Given the description of an element on the screen output the (x, y) to click on. 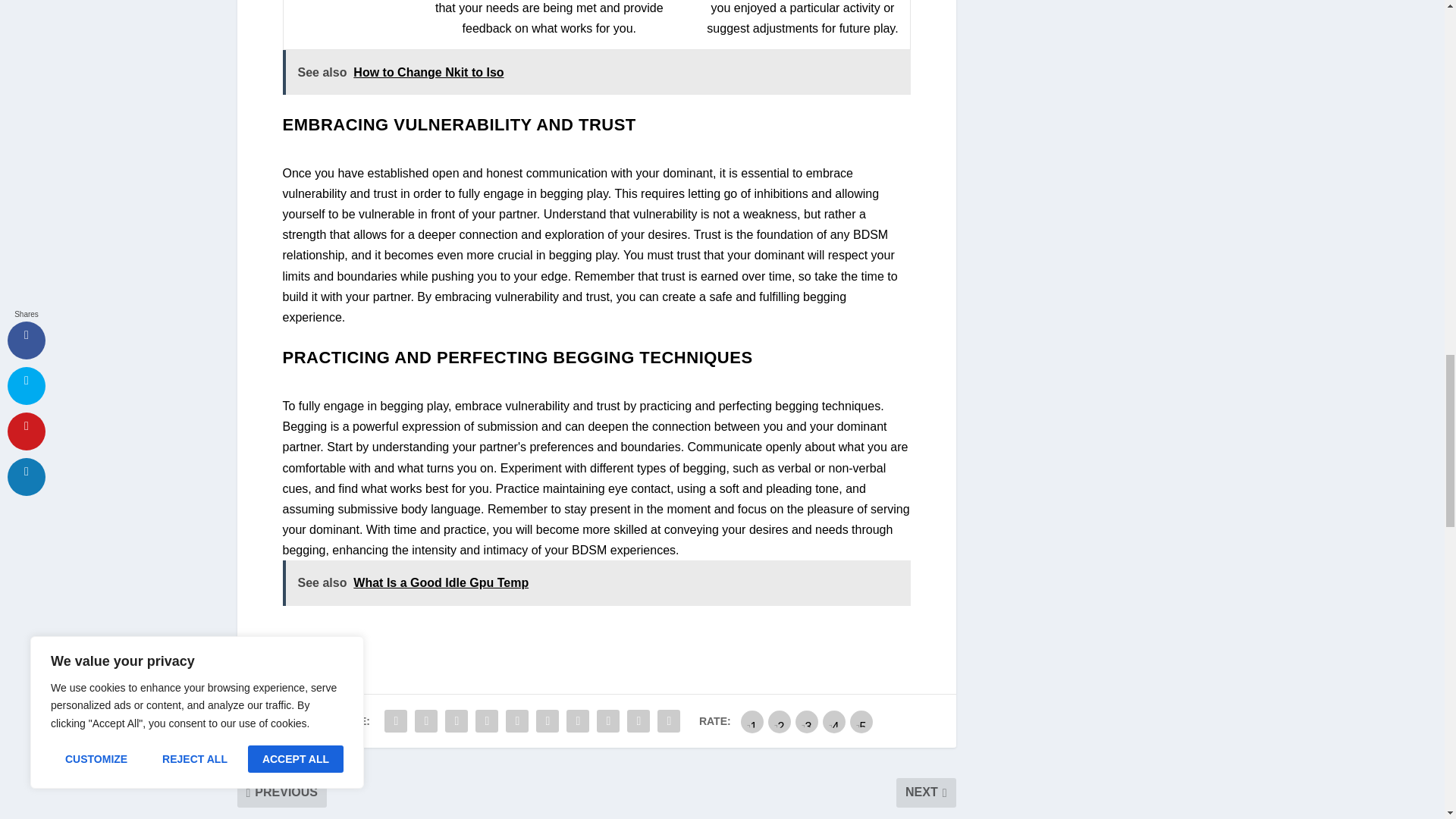
Share "How to Beg as a Sub" via Buffer (577, 720)
See also  How to Change Nkit to Iso (596, 72)
Share "How to Beg as a Sub" via Pinterest (517, 720)
See also  What Is a Good Idle Gpu Temp (596, 582)
Share "How to Beg as a Sub" via Tumblr (486, 720)
Share "How to Beg as a Sub" via LinkedIn (547, 720)
Share "How to Beg as a Sub" via Facebook (395, 720)
Share "How to Beg as a Sub" via Twitter (425, 720)
